Given the description of an element on the screen output the (x, y) to click on. 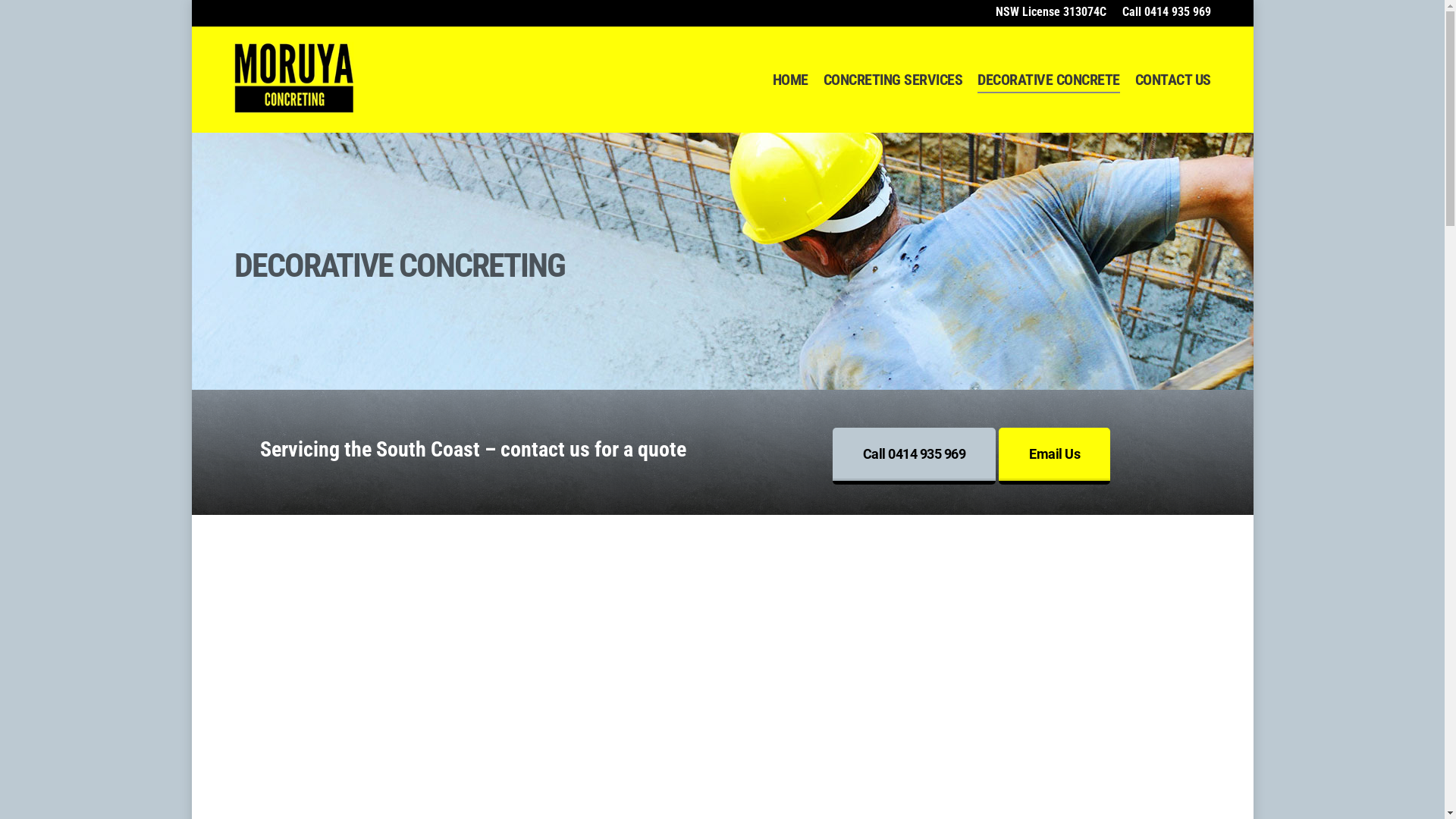
Call 0414 935 969 Element type: text (1161, 11)
NSW License 313074C Element type: text (1050, 11)
CONCRETING SERVICES Element type: text (893, 79)
HOME Element type: text (789, 79)
Call 0414 935 969 Element type: text (914, 455)
CONTACT US Element type: text (1172, 79)
Email Us Element type: text (1054, 455)
DECORATIVE CONCRETE Element type: text (1048, 79)
